Given the description of an element on the screen output the (x, y) to click on. 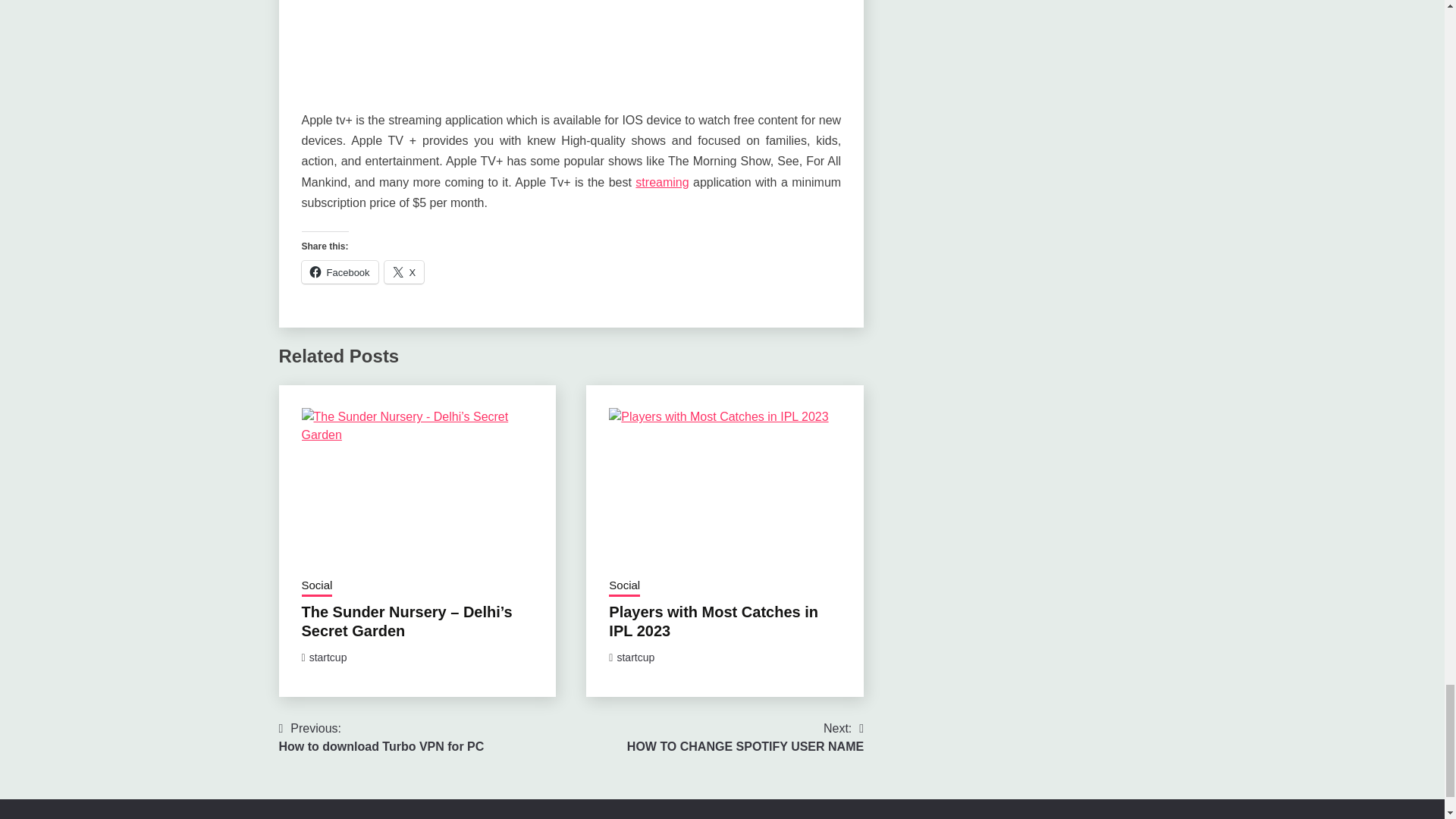
Click to share on X (404, 272)
streaming (661, 182)
Click to share on Facebook (339, 272)
